Given the description of an element on the screen output the (x, y) to click on. 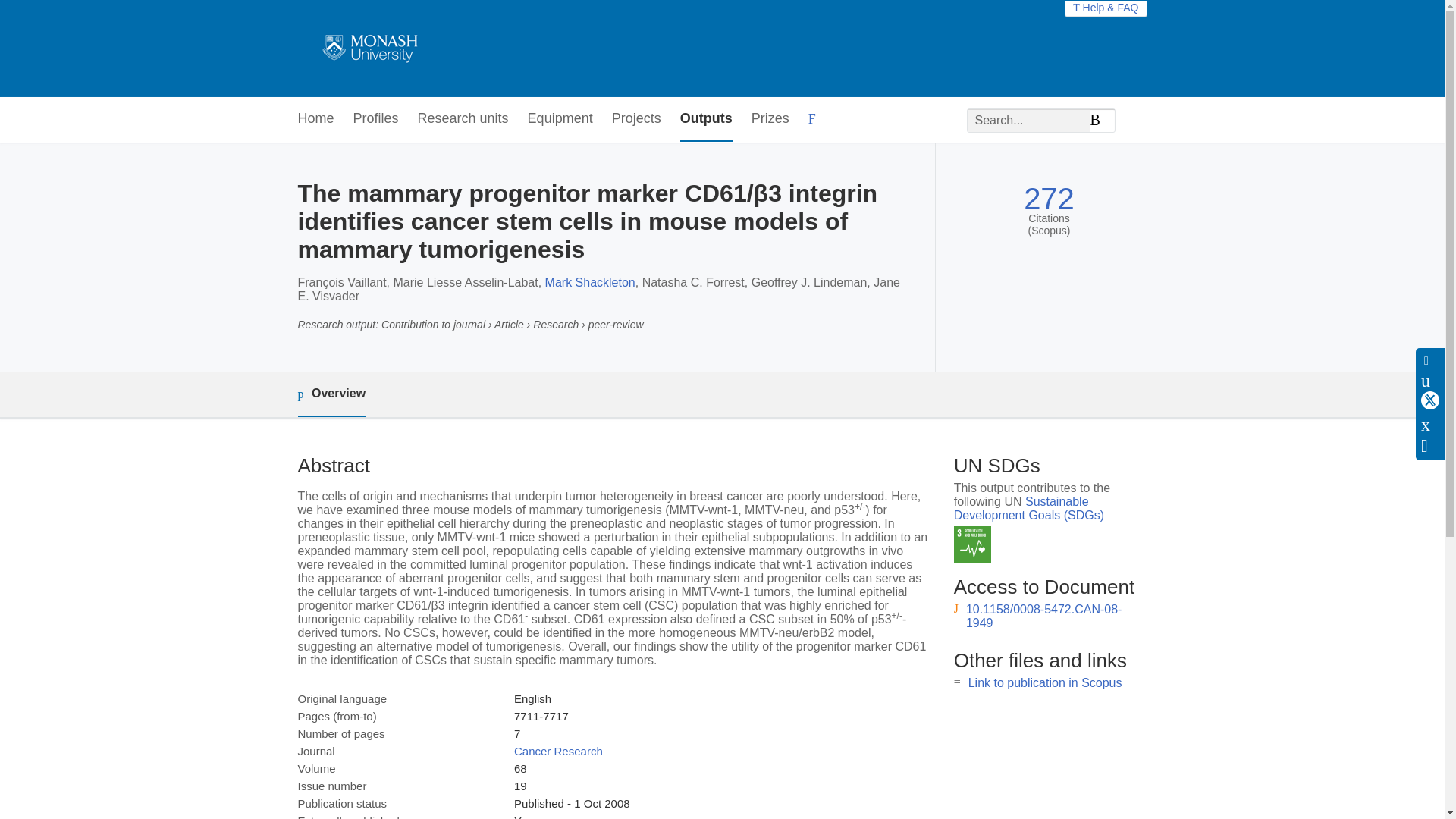
Research units (462, 119)
Mark Shackleton (589, 282)
Link to publication in Scopus (1045, 682)
272 (1048, 198)
SDG 3 - Good Health and Well-being (972, 544)
Equipment (559, 119)
Projects (636, 119)
Profiles (375, 119)
Monash University Home (366, 48)
